Given the description of an element on the screen output the (x, y) to click on. 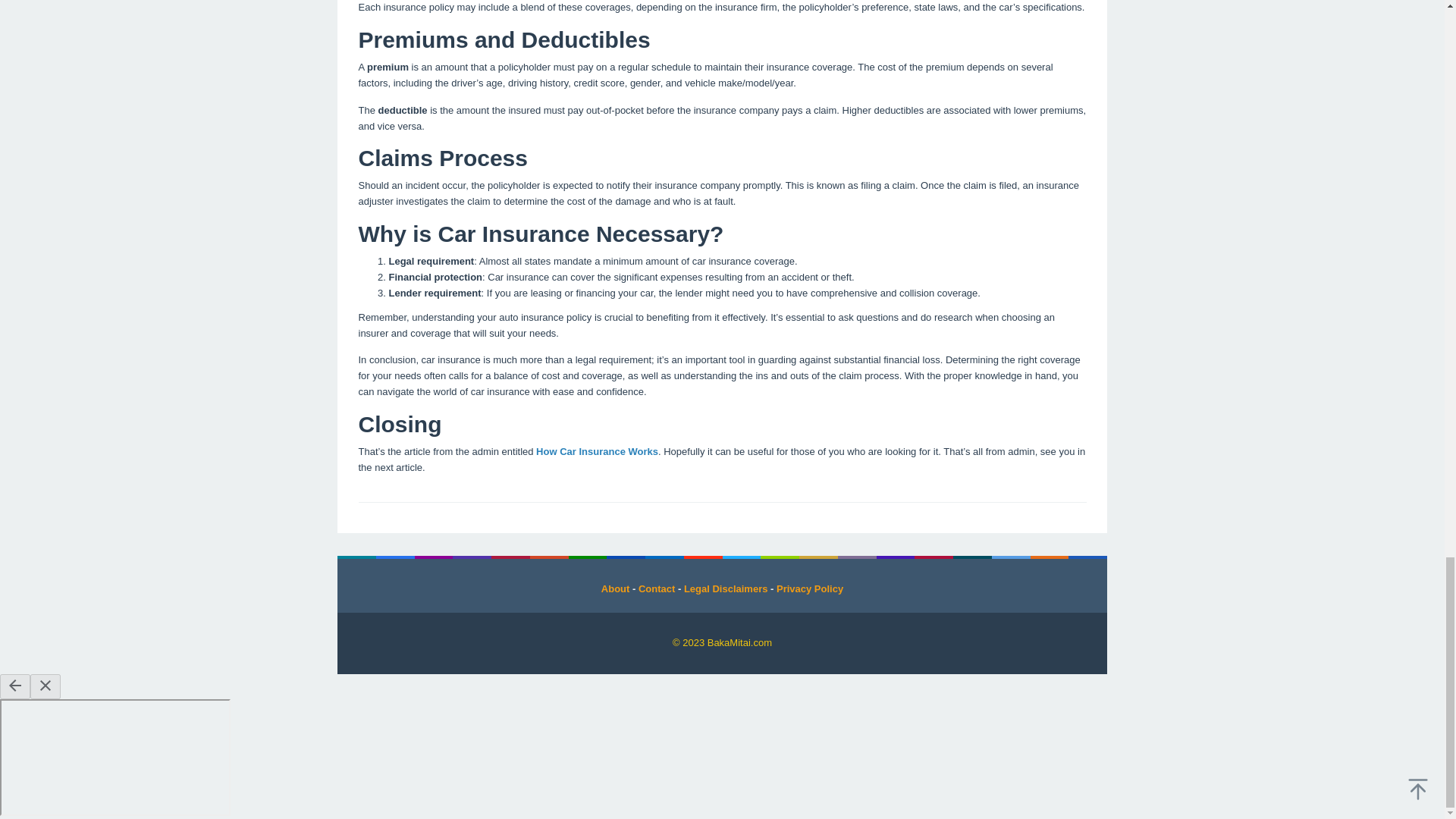
Legal Disclaimers (726, 588)
Privacy Policy (809, 588)
Contact (657, 588)
How Car Insurance Works (596, 451)
About (615, 588)
